Given the description of an element on the screen output the (x, y) to click on. 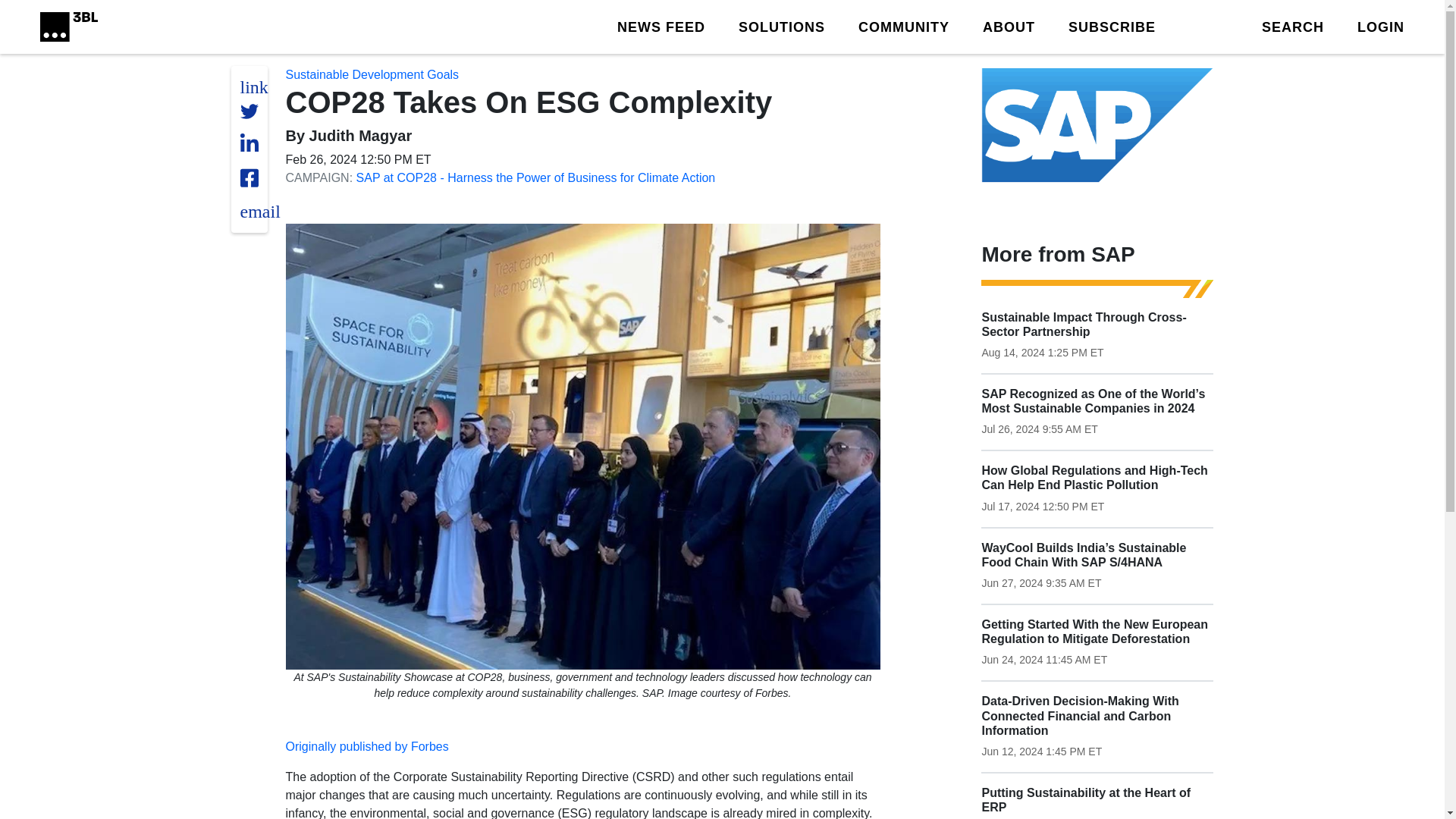
COMMUNITY (904, 26)
SOLUTIONS (781, 26)
ABOUT (1008, 26)
Share via email (259, 211)
NEWS FEED (660, 26)
link to 3 B L Media's Twitter (253, 87)
SUBSCRIBE (1112, 26)
